Given the description of an element on the screen output the (x, y) to click on. 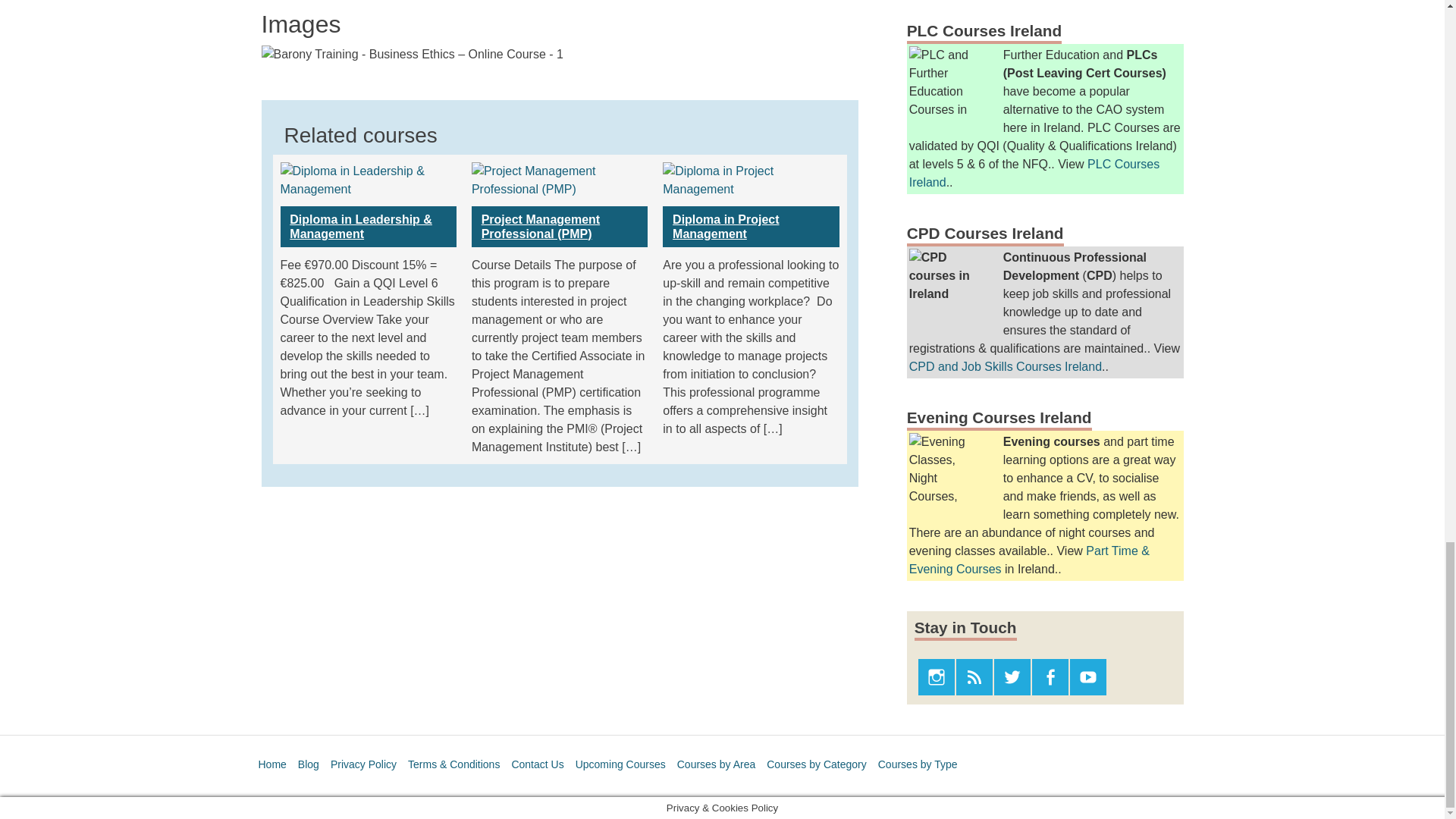
Diploma in Project Management (750, 226)
Diploma in Project Management (750, 178)
